Given the description of an element on the screen output the (x, y) to click on. 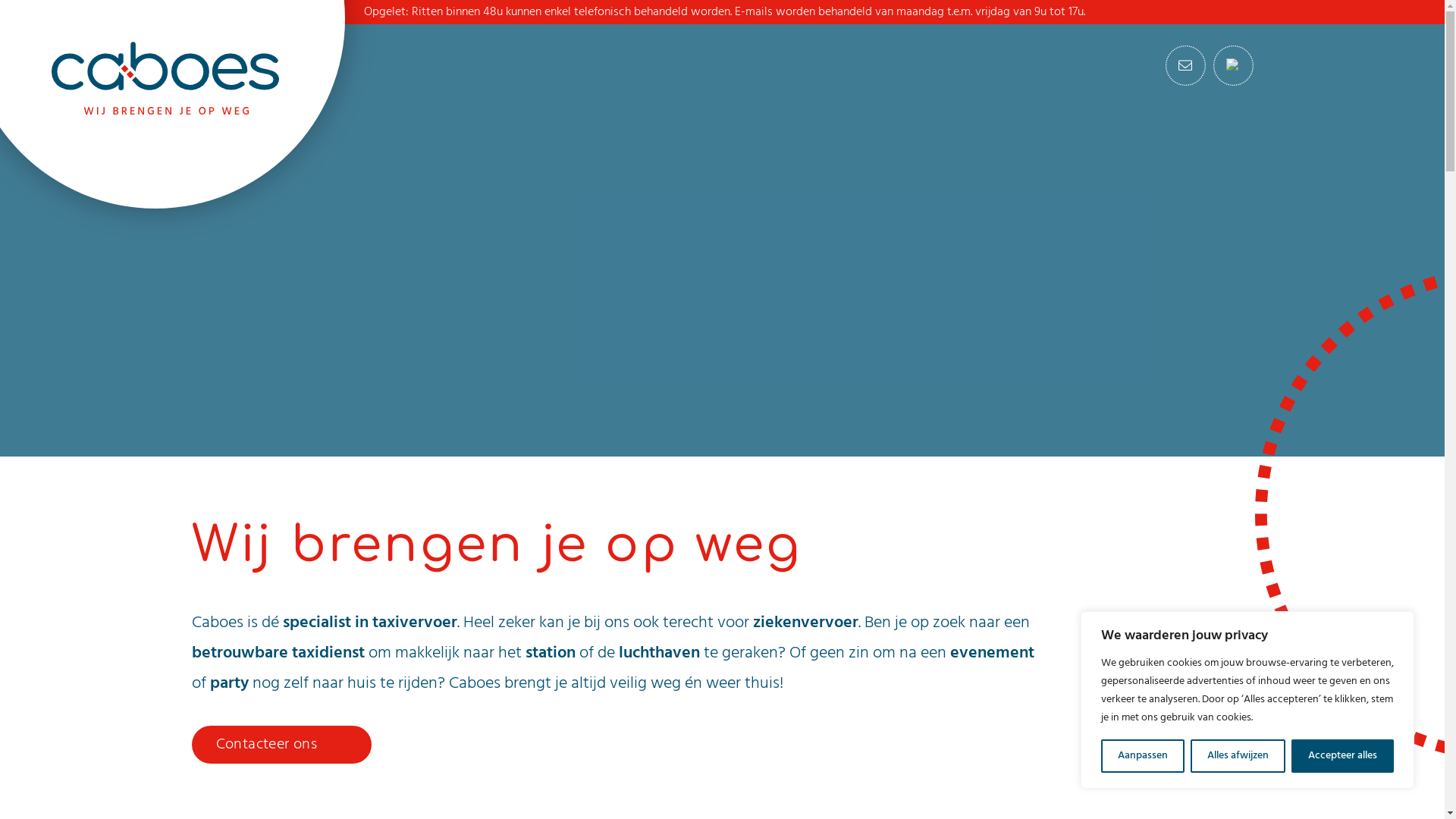
Aanpassen Element type: text (1142, 755)
Contacteer ons Element type: text (281, 744)
Alles afwijzen Element type: text (1237, 755)
Accepteer alles Element type: text (1342, 755)
